Given the description of an element on the screen output the (x, y) to click on. 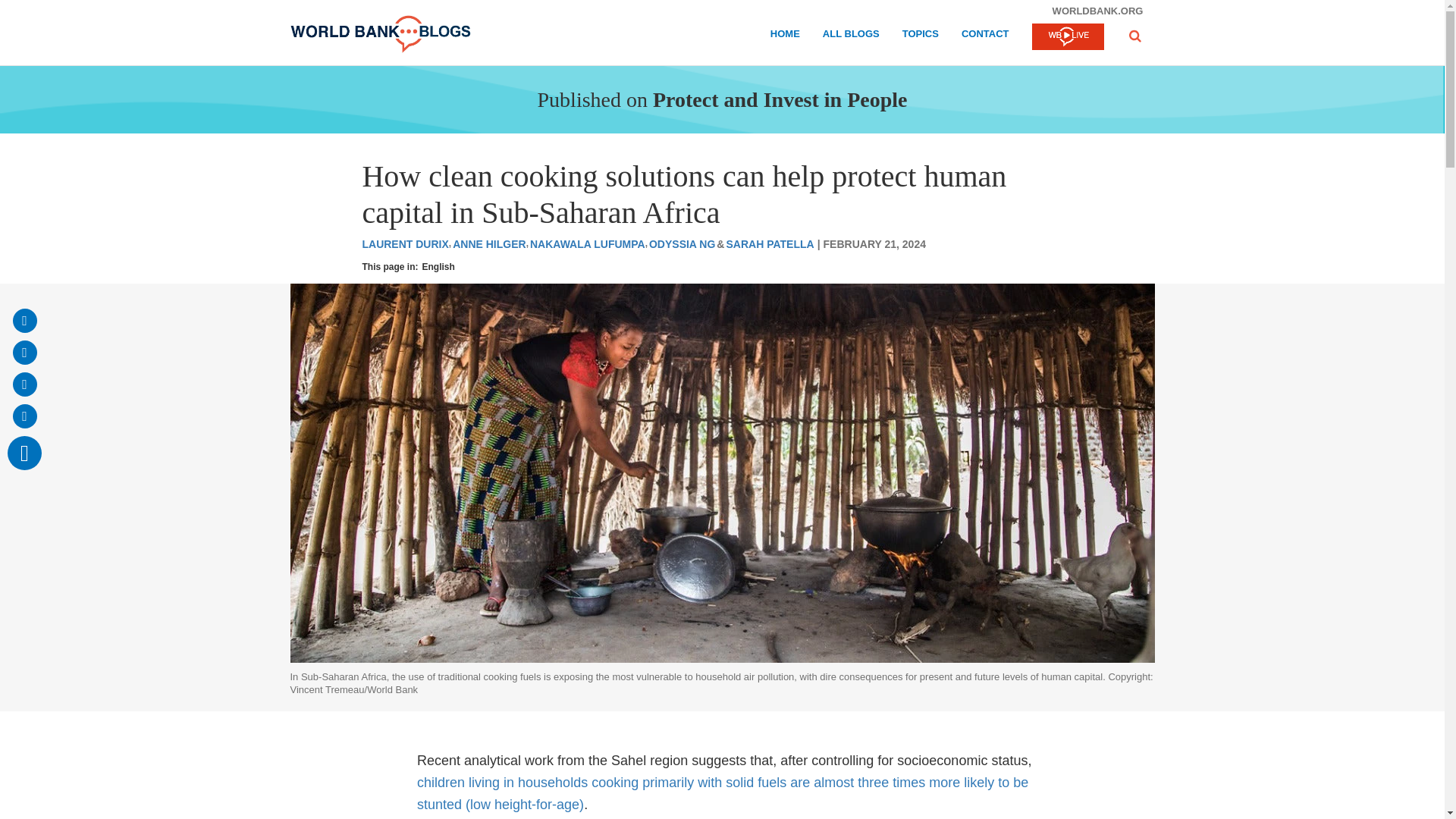
Facebook (23, 352)
CONTACT (984, 37)
NAKAWALA LUFUMPA (587, 244)
LAURENT DURIX (404, 244)
ANNE HILGER (488, 244)
TOPICS (920, 37)
ODYSSIA NG (681, 244)
HOME (784, 37)
WB LIVE LOGO (1066, 37)
Protect and Invest in People (779, 99)
ALL BLOGS (850, 37)
Tweet (23, 384)
WORLDBANK.ORG (1097, 10)
WB Live Logo (1066, 36)
